Given the description of an element on the screen output the (x, y) to click on. 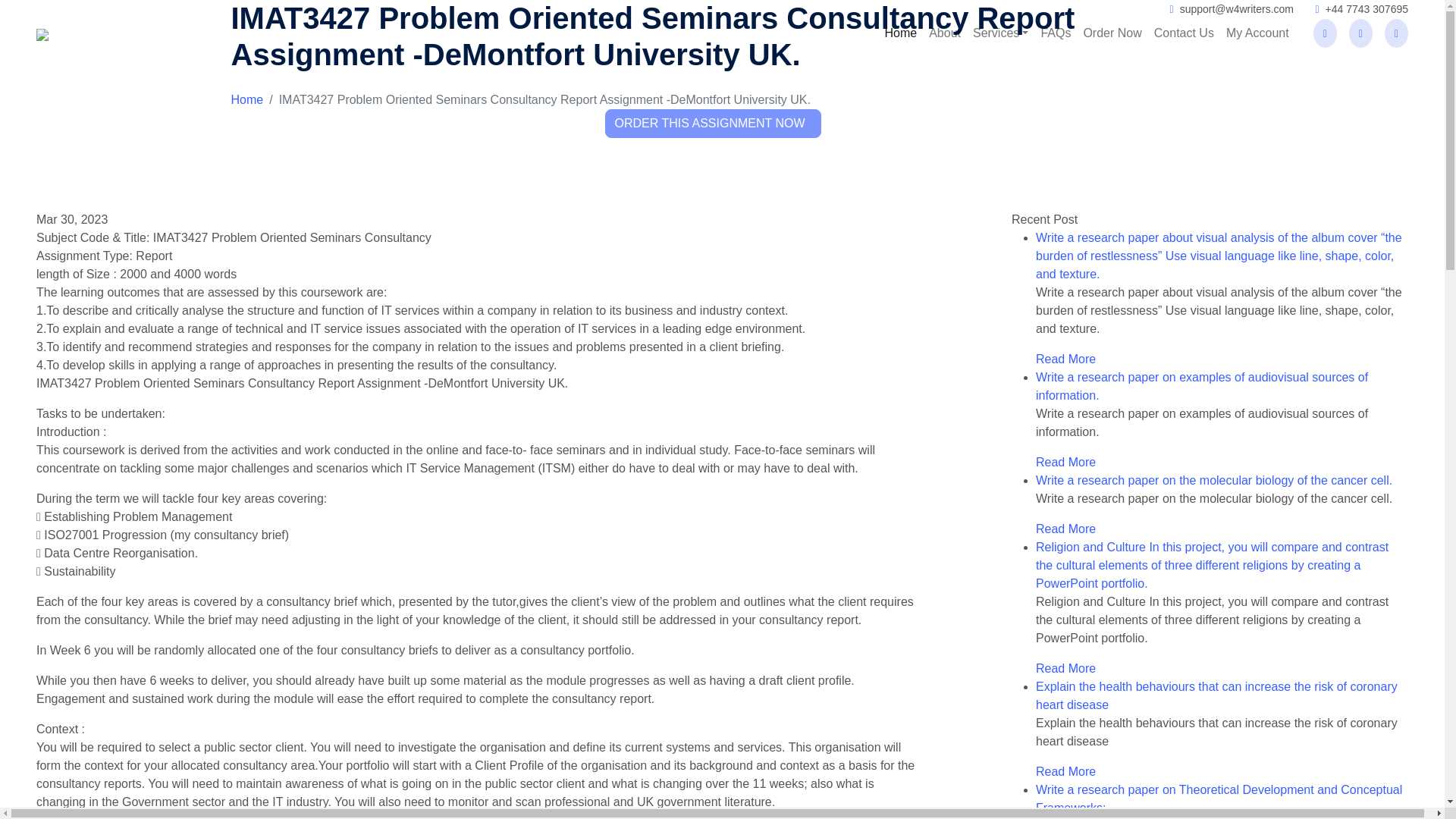
Read More (1065, 358)
Read More (1065, 528)
My Account (1257, 33)
ORDER THIS ASSIGNMENT NOW   (713, 123)
Read More (1065, 461)
ORDER THIS ASSIGNMENT NOW   (713, 123)
About (944, 33)
